Given the description of an element on the screen output the (x, y) to click on. 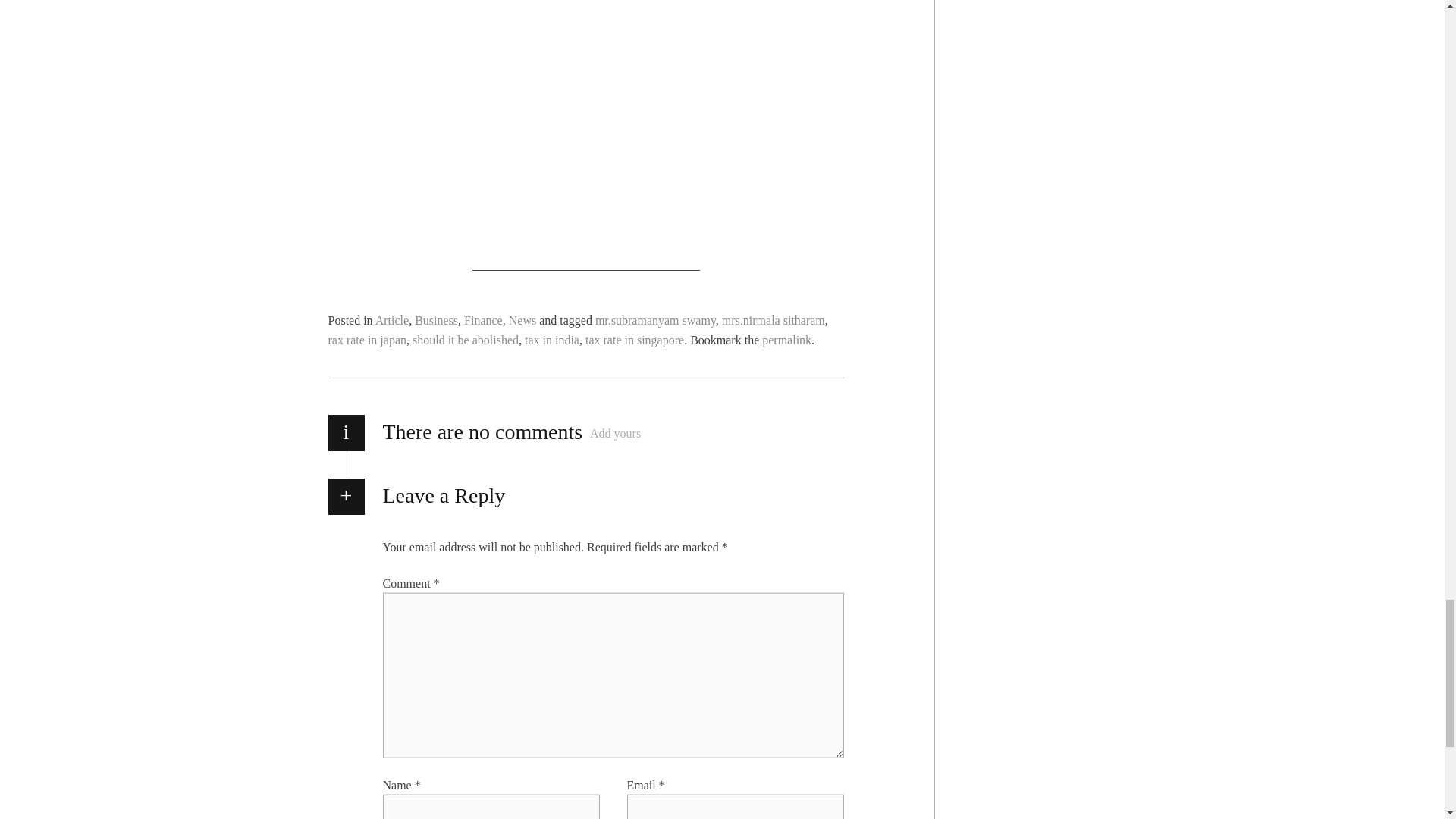
Business (436, 319)
Article (392, 319)
permalink (785, 339)
rax rate in japan (366, 339)
mrs.nirmala sitharam (773, 319)
Finance (483, 319)
tax in india (551, 339)
tax rate in singapore (634, 339)
News (521, 319)
Add yours (614, 433)
mr.subramanyam swamy (655, 319)
should it be abolished (465, 339)
